Given the description of an element on the screen output the (x, y) to click on. 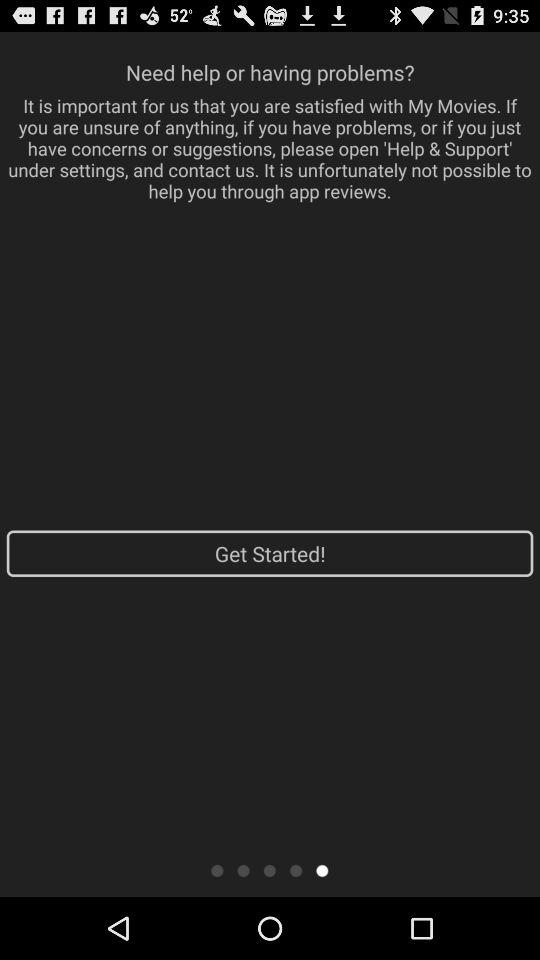
select icon below get started! (269, 870)
